Given the description of an element on the screen output the (x, y) to click on. 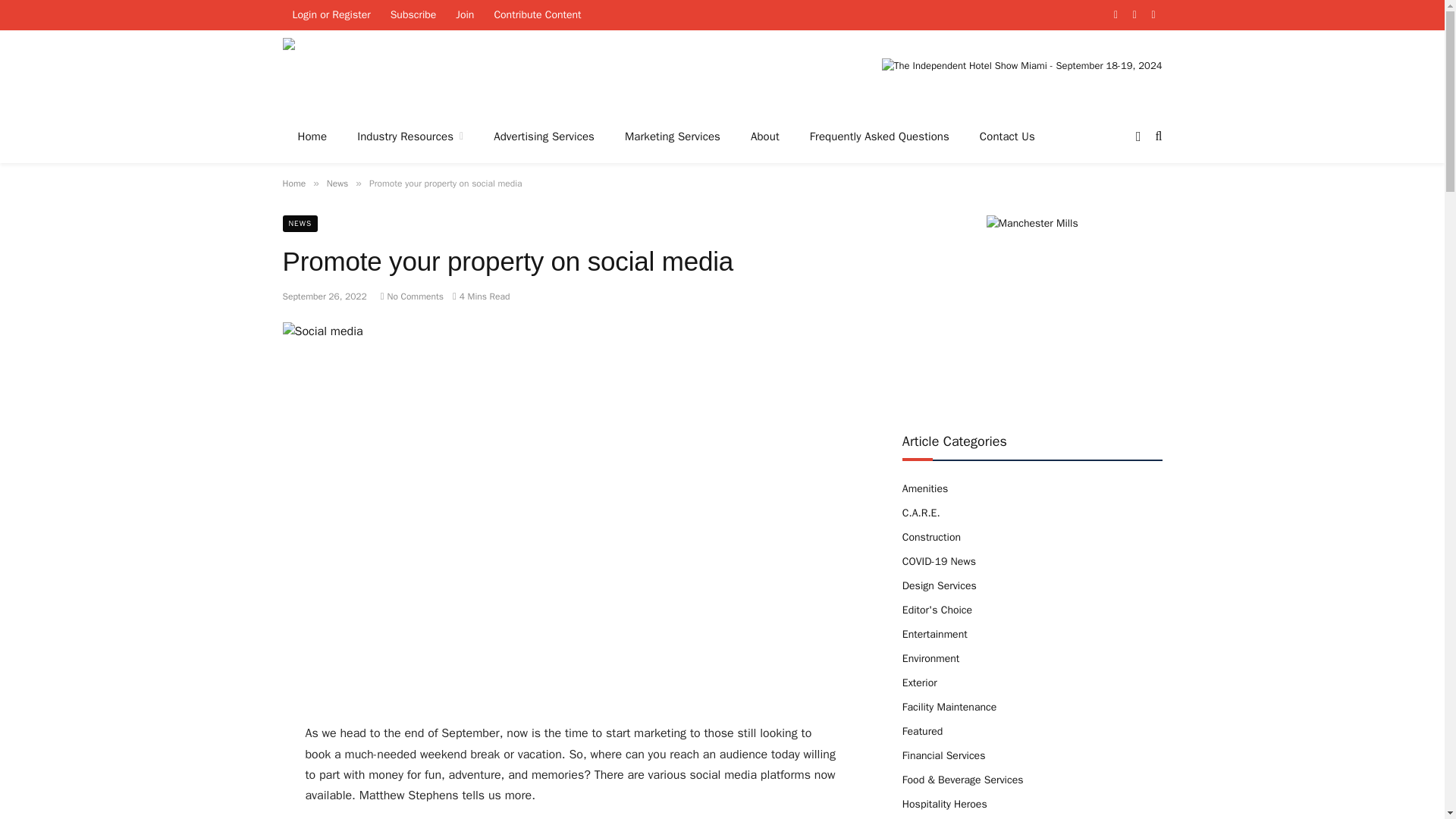
Contribute Content (537, 15)
The Independent Hotel Show Miami - September 18-19, 2024 (1021, 75)
Industry Resources (410, 135)
Home (312, 135)
Inside Hospitality Solutions (422, 75)
Join (464, 15)
Login or Register (331, 15)
Subscribe (413, 15)
